Given the description of an element on the screen output the (x, y) to click on. 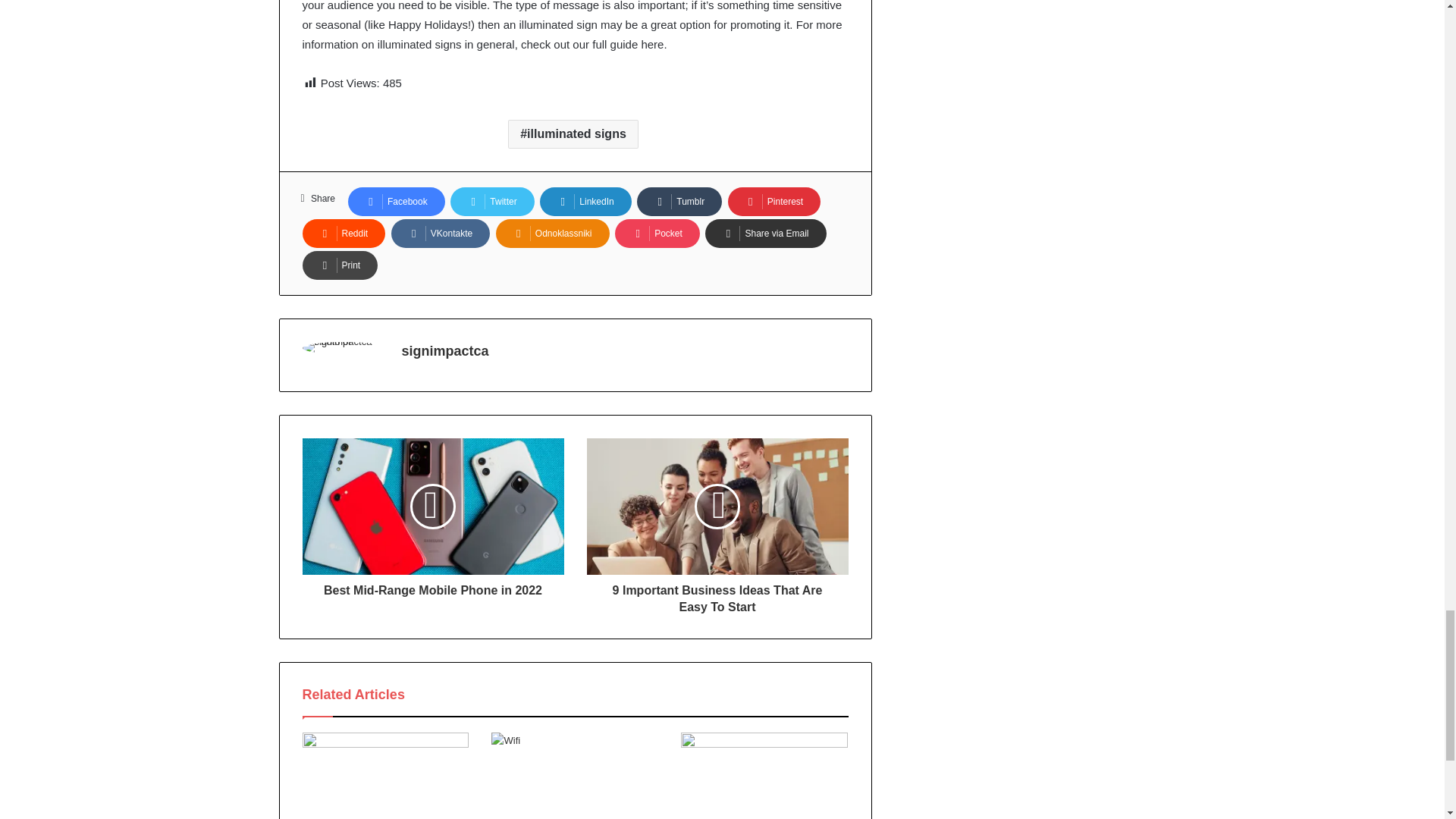
Reddit (343, 233)
LinkedIn (585, 201)
Tumblr (679, 201)
Facebook (396, 201)
Twitter (491, 201)
Pinterest (774, 201)
